Given the description of an element on the screen output the (x, y) to click on. 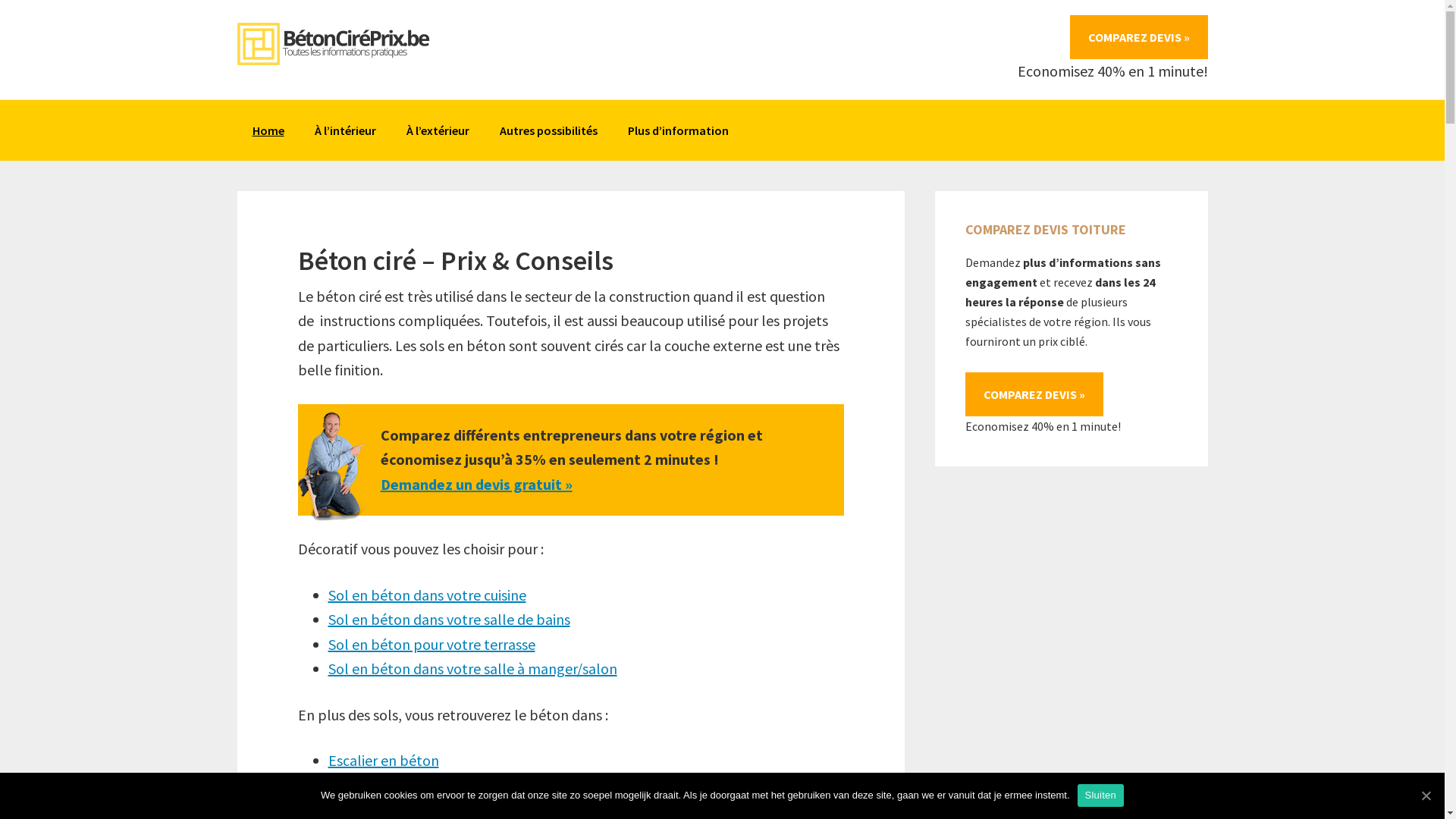
Sluiten Element type: text (1100, 795)
Home Element type: text (267, 130)
